Given the description of an element on the screen output the (x, y) to click on. 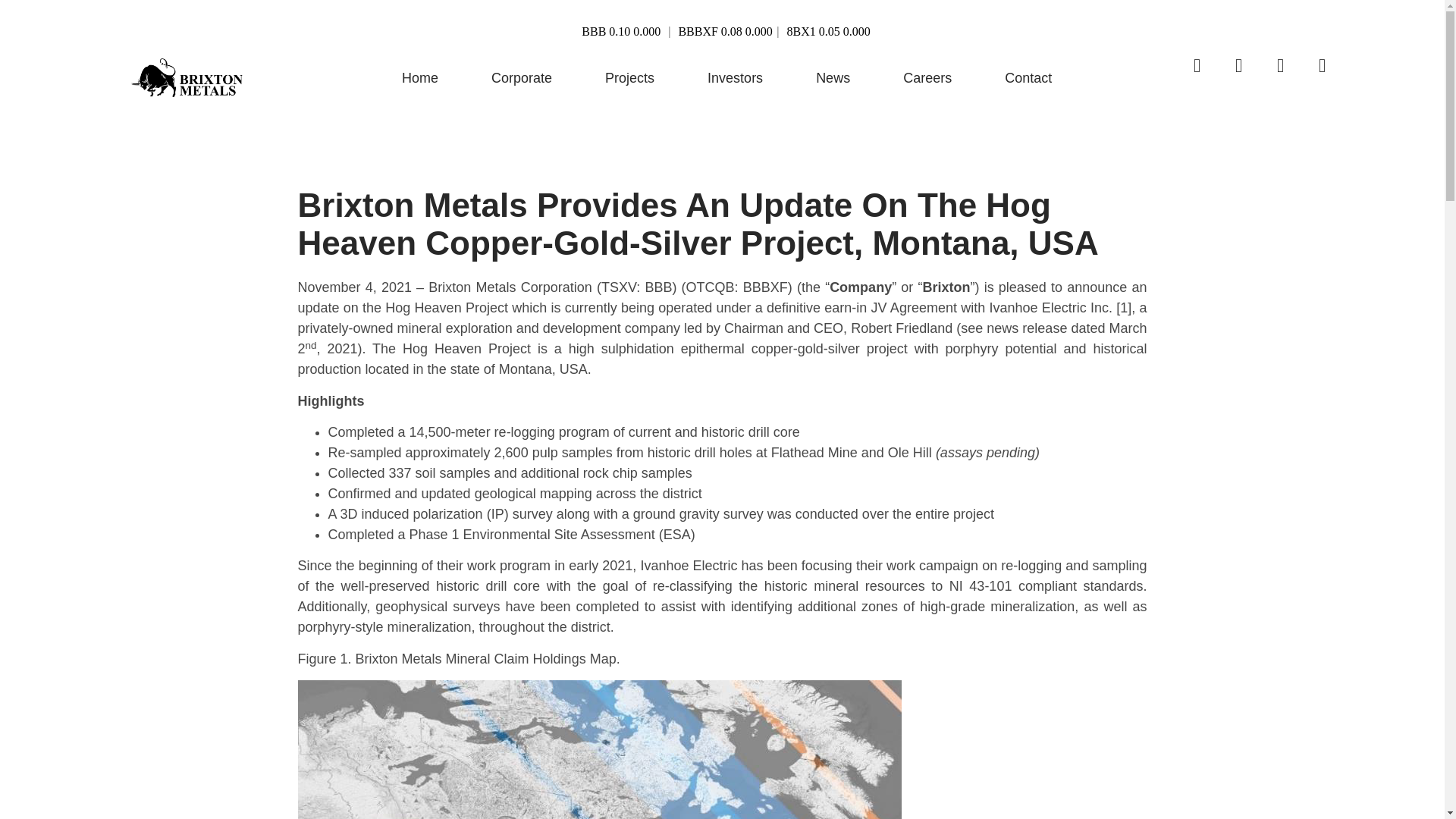
Projects (629, 77)
News (832, 77)
Careers (927, 77)
Home (419, 77)
Corporate (521, 77)
Investors (735, 77)
Contact (1027, 77)
